Given the description of an element on the screen output the (x, y) to click on. 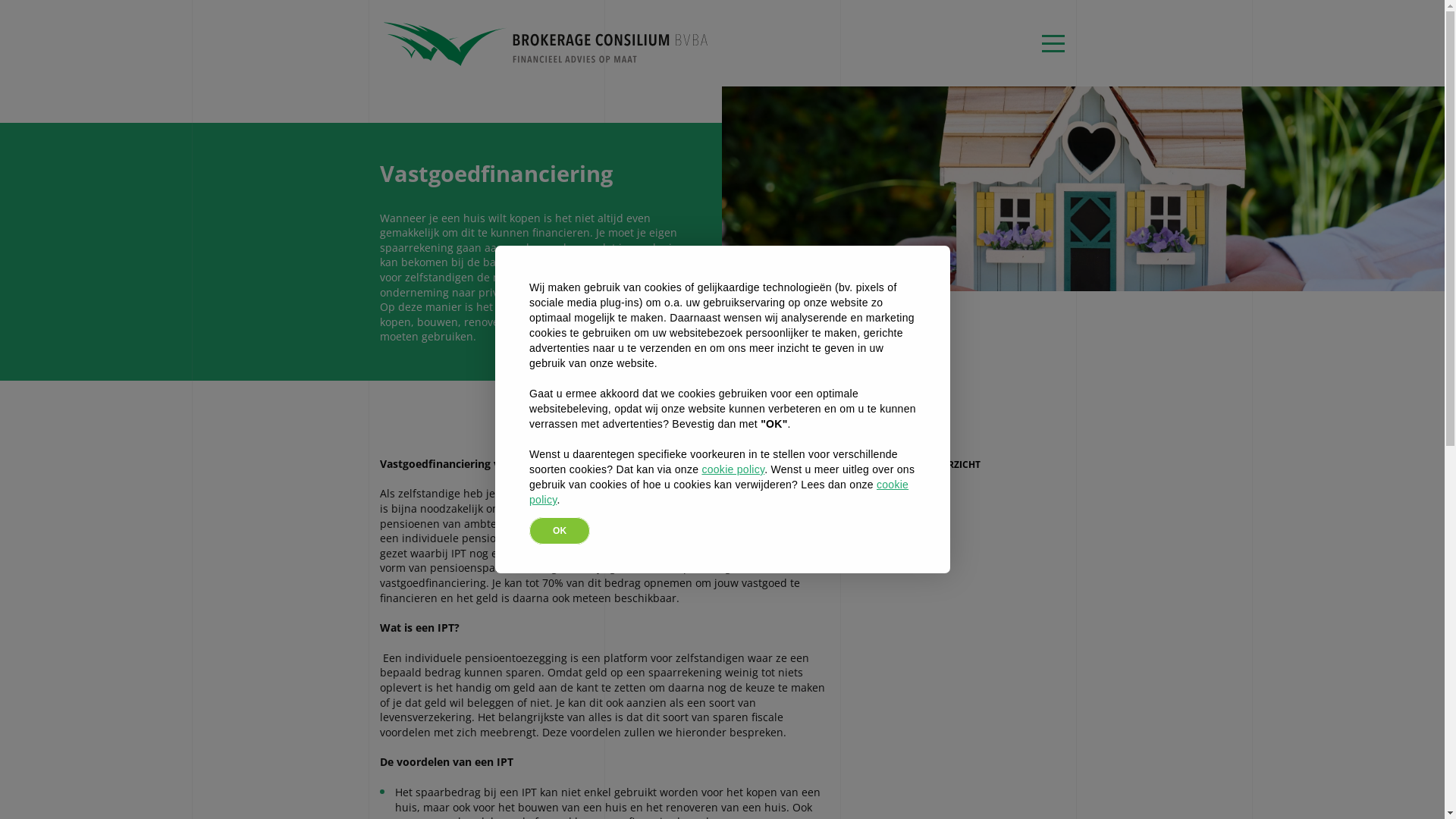
In onze 2de blog Element type: text (636, 538)
Brokerage Consilium Element type: hover (545, 25)
cookie policy Element type: text (732, 469)
cookie policy Element type: text (718, 491)
TERUG NAAR OVERZICHT Element type: text (915, 464)
